Given the description of an element on the screen output the (x, y) to click on. 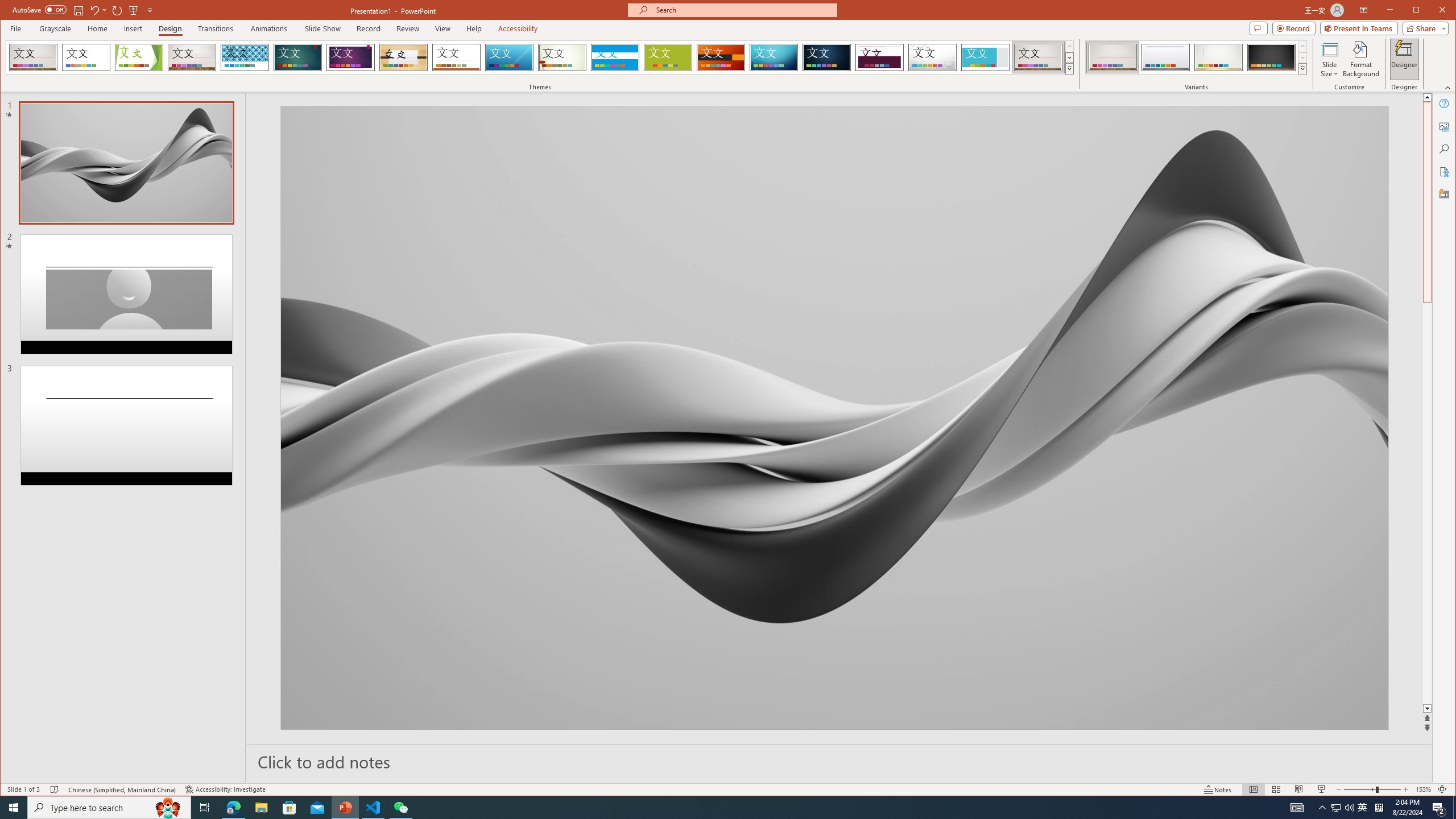
Slice (509, 57)
Frame (985, 57)
